Given the description of an element on the screen output the (x, y) to click on. 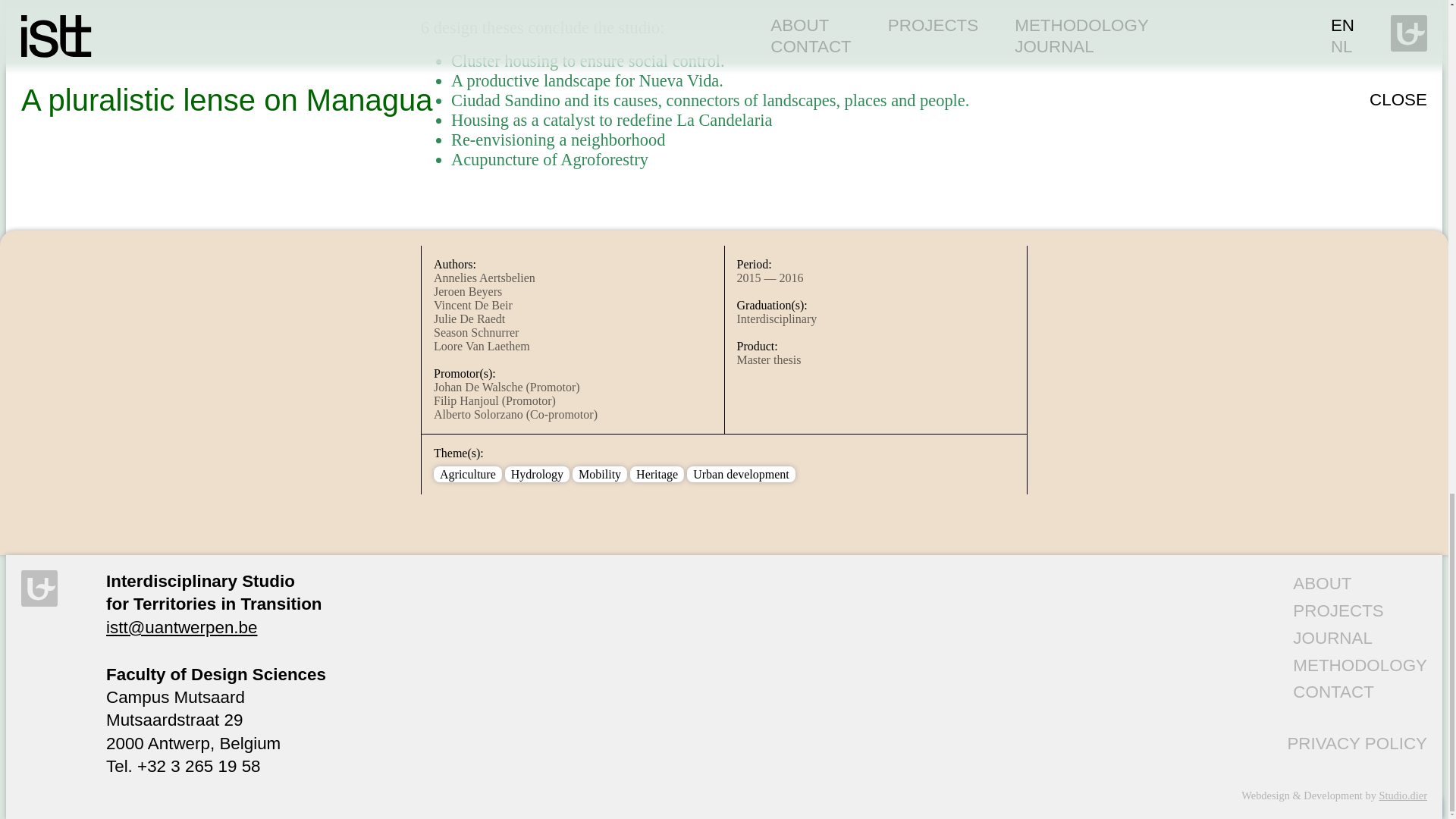
Agriculture (467, 473)
